Given the description of an element on the screen output the (x, y) to click on. 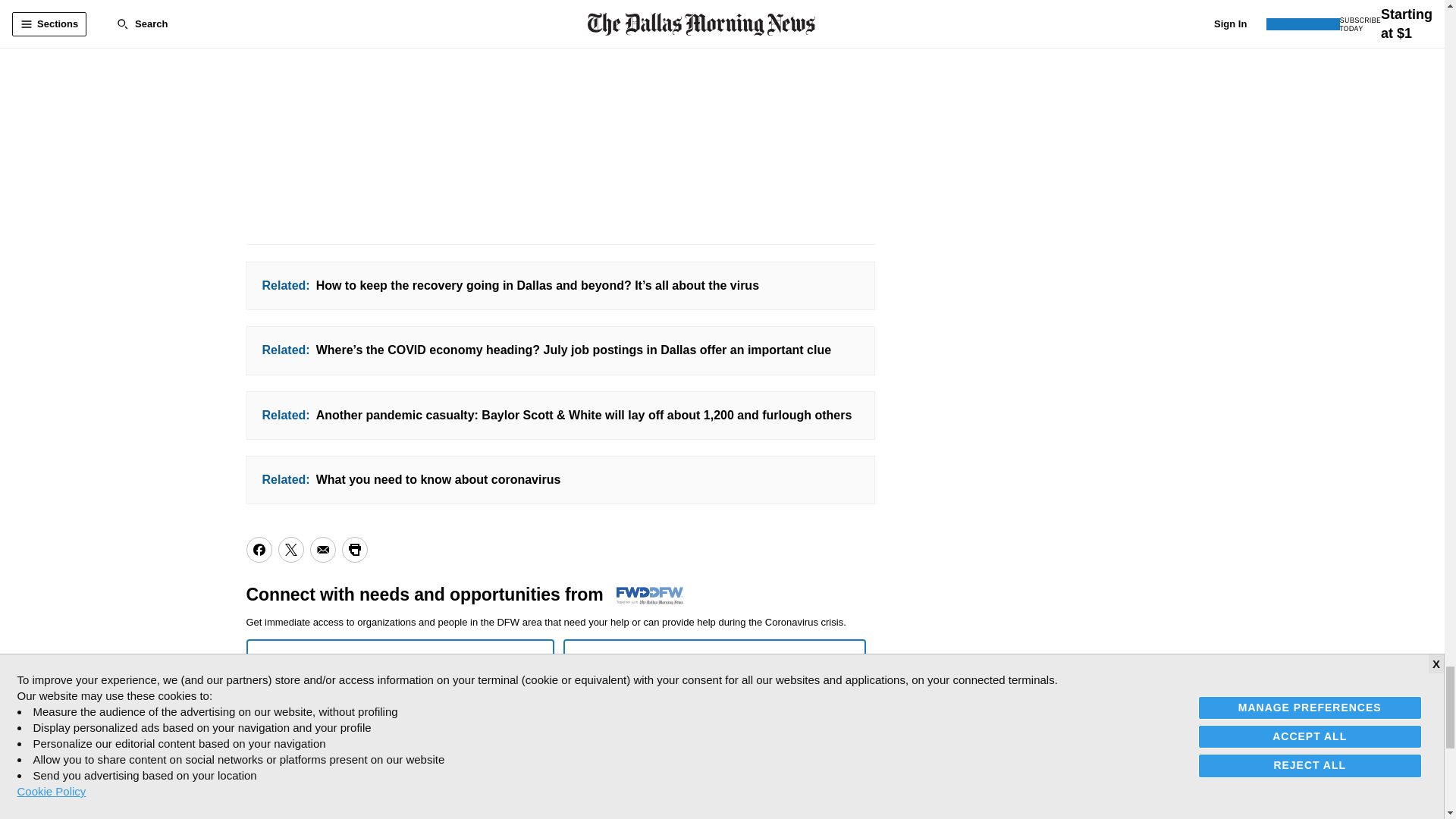
Share via Email (321, 549)
Share on Facebook (258, 549)
Share on Twitter (290, 549)
Print (353, 549)
